Given the description of an element on the screen output the (x, y) to click on. 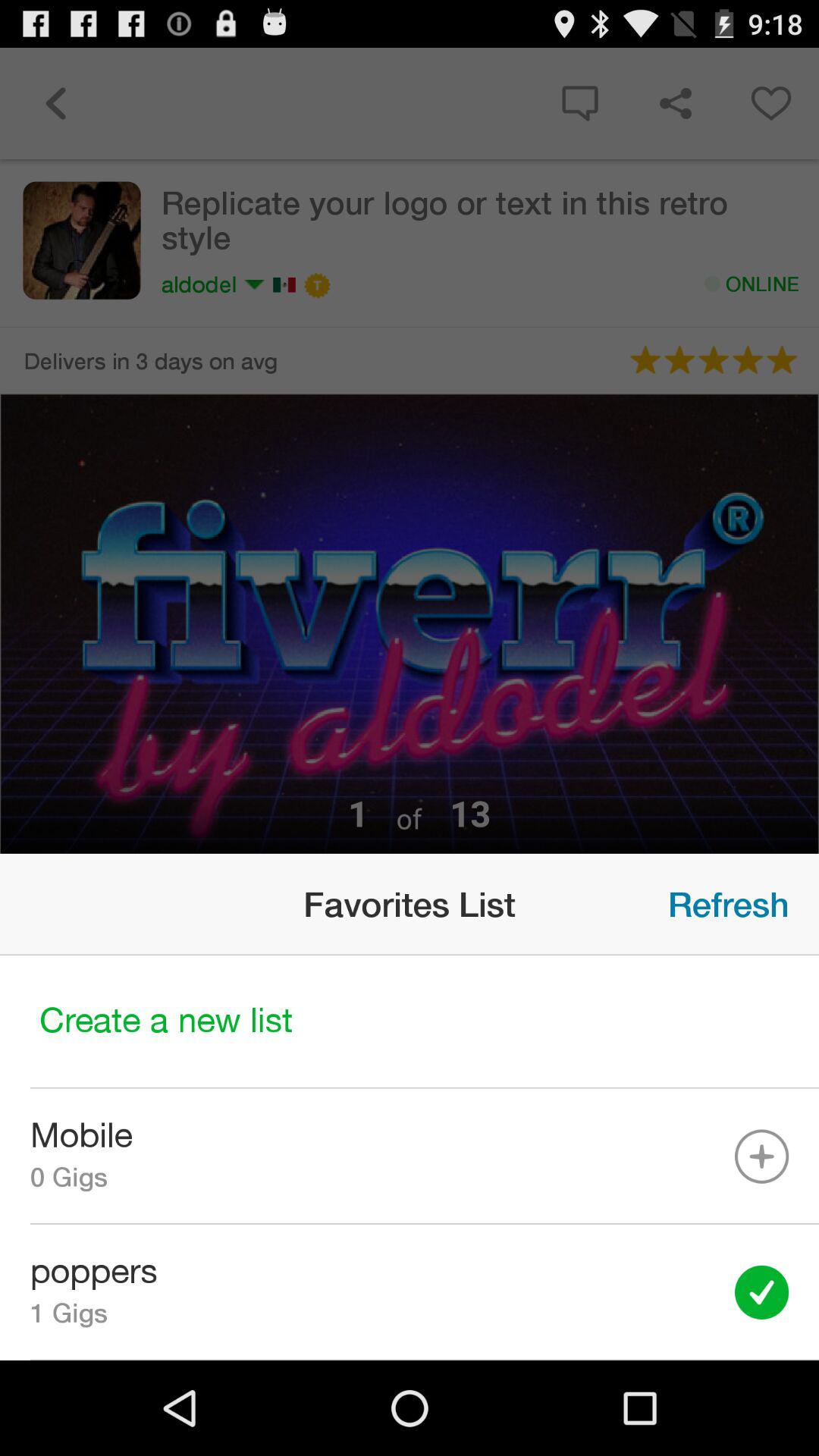
go to create (409, 1021)
